Given the description of an element on the screen output the (x, y) to click on. 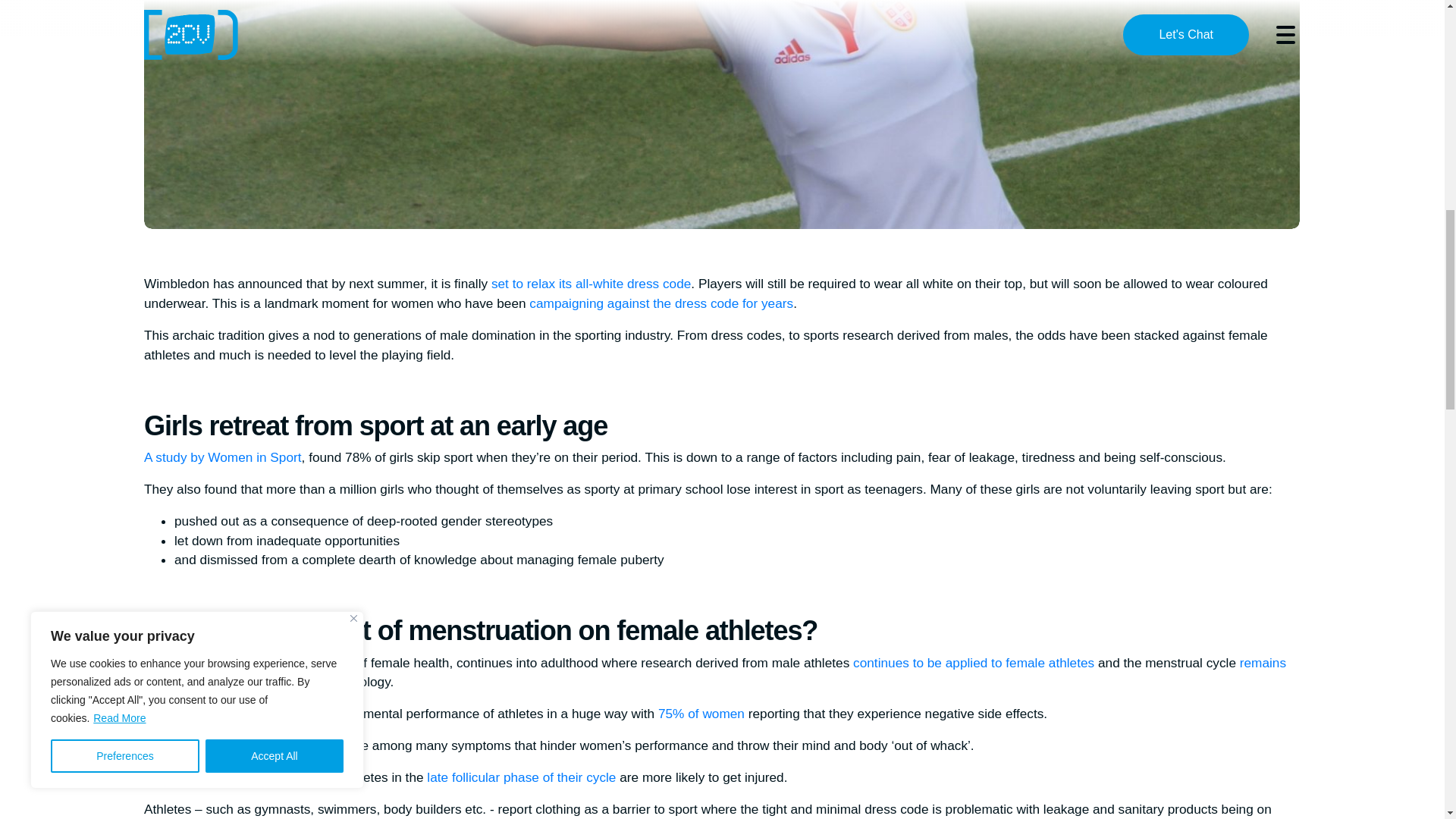
campaigning against the dress code for years (661, 303)
set to relax its all-white dress code (591, 283)
A study by Women in Sport (222, 457)
continues to be applied to female athletes (973, 662)
remains among the least studied (714, 672)
